Given the description of an element on the screen output the (x, y) to click on. 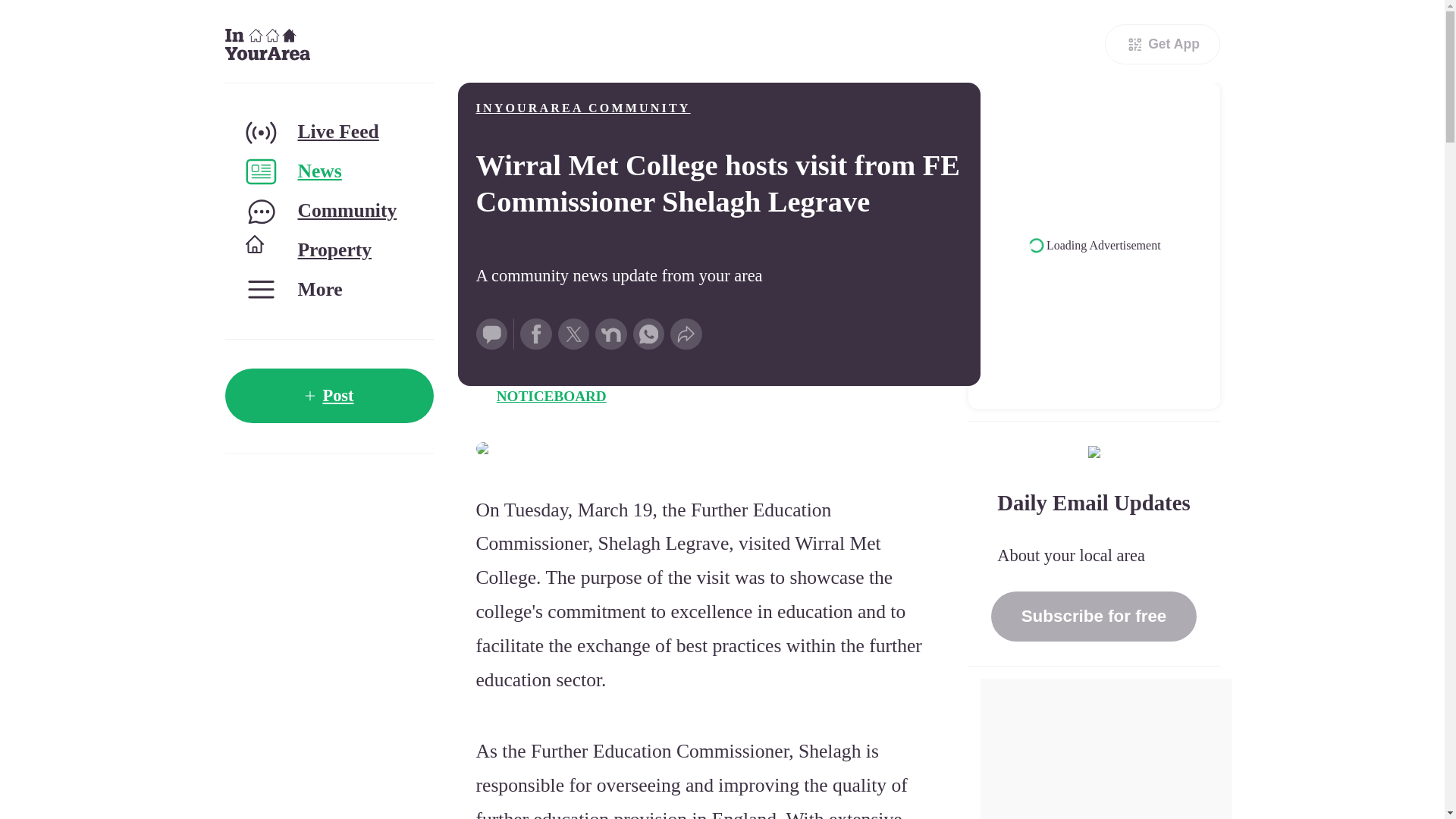
Get App (1162, 44)
Property (328, 250)
Community (328, 210)
Get App (1162, 44)
Share to Whatsapp (649, 334)
INYOURAREA COMMUNITY (583, 107)
Share to Facebook (535, 334)
Share to ... (685, 334)
Share to X (573, 334)
News (328, 171)
